Given the description of an element on the screen output the (x, y) to click on. 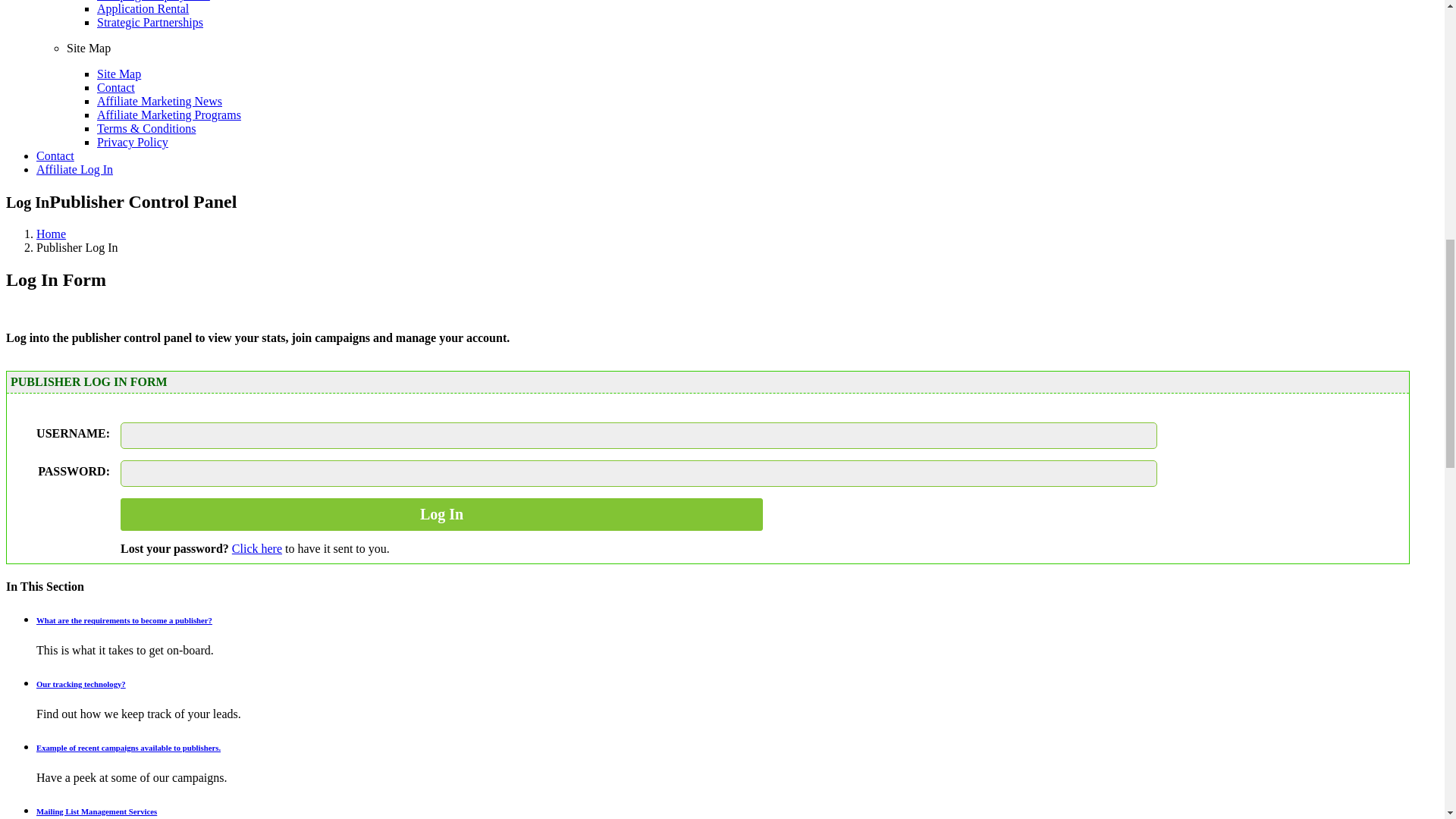
Log In (441, 513)
